Given the description of an element on the screen output the (x, y) to click on. 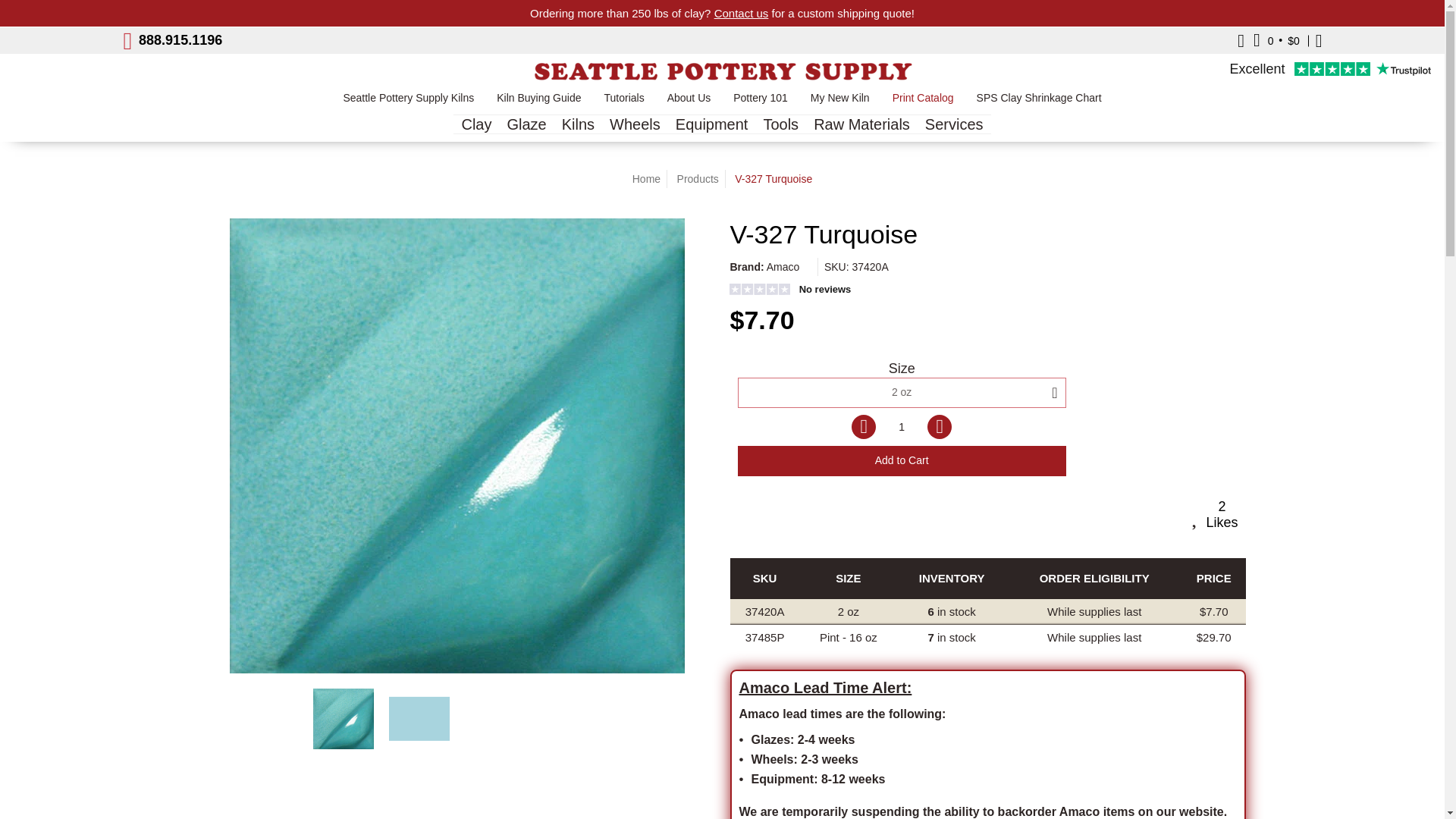
Clay (475, 123)
Tutorials (623, 101)
Seattle Pottery Supply Kilns (407, 101)
About Us (689, 101)
Add to Cart (900, 460)
Customer reviews powered by Trustpilot (1329, 70)
Kiln Buying Guide (538, 101)
Search (1241, 40)
SPS Clay Shrinkage Chart (1039, 101)
Print Catalog (922, 101)
1 (901, 426)
Cart (1276, 40)
Seattle Pottery Supply (721, 71)
My New Kiln (839, 101)
Pottery 101 (760, 101)
